Given the description of an element on the screen output the (x, y) to click on. 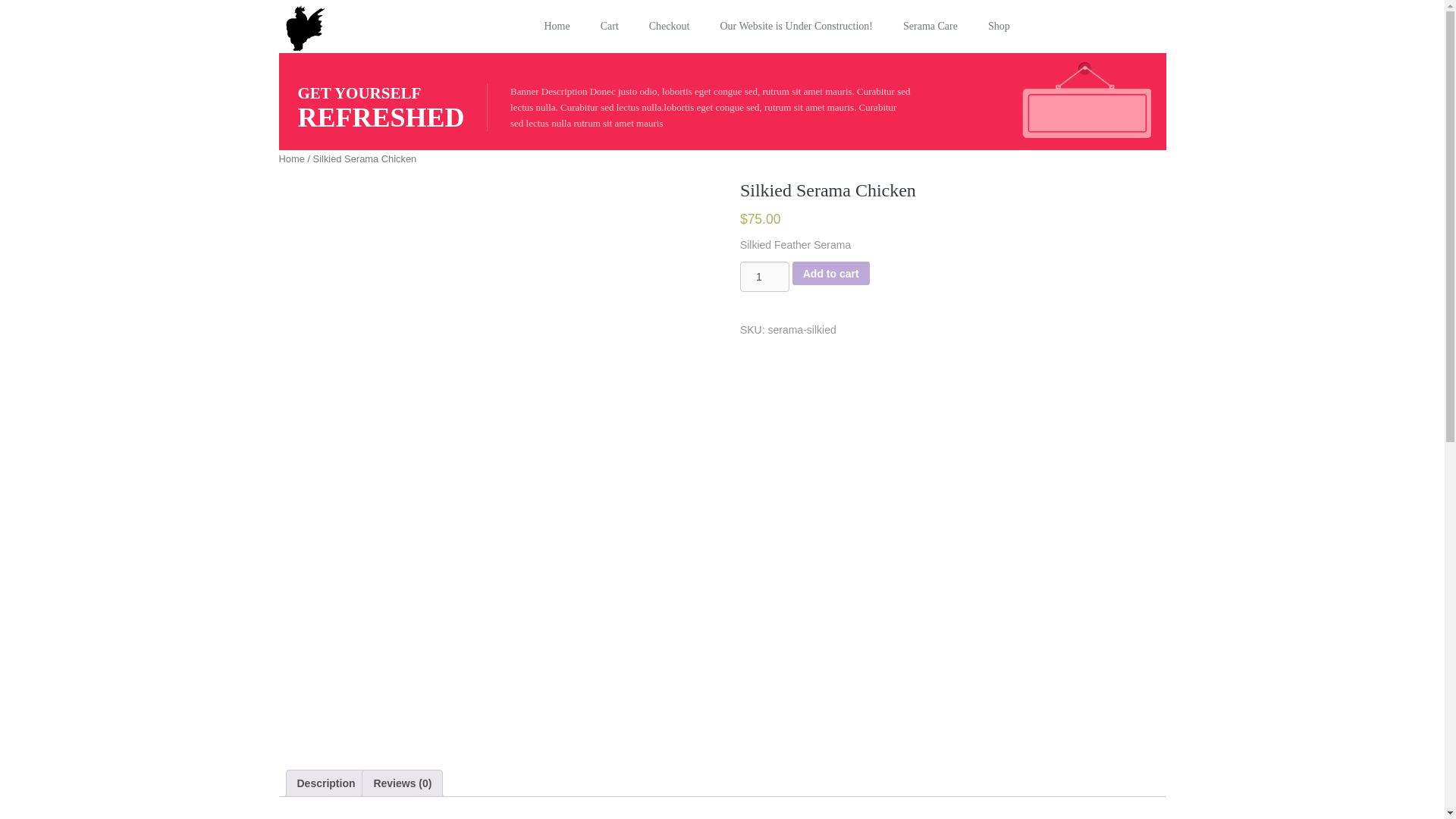
1 (764, 276)
Home (556, 26)
Serama Care (930, 26)
Add to cart (830, 273)
Our Website is Under Construction! (796, 26)
Checkout (668, 26)
Home (556, 26)
Cart (609, 26)
Home (291, 158)
Shop (998, 26)
Description (326, 783)
